Given the description of an element on the screen output the (x, y) to click on. 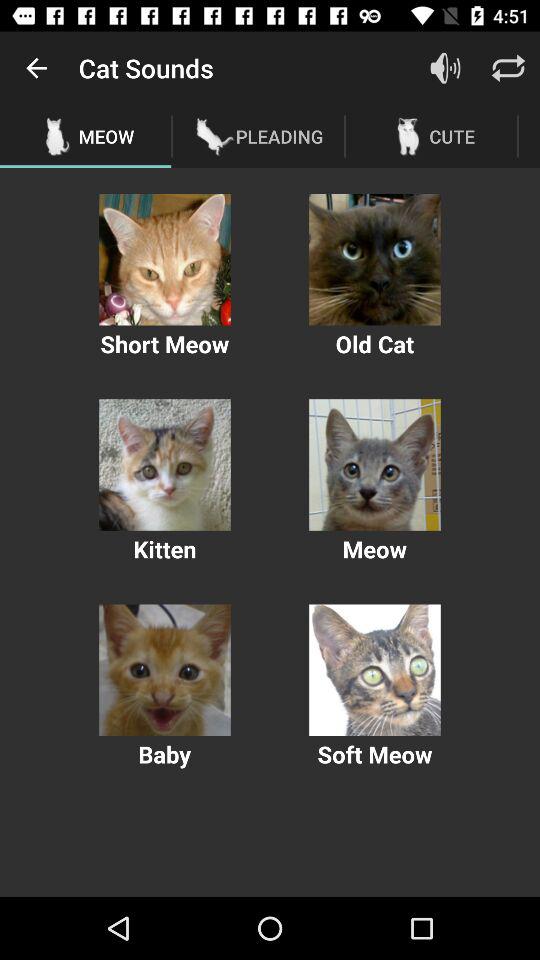
short meow sound (164, 259)
